Given the description of an element on the screen output the (x, y) to click on. 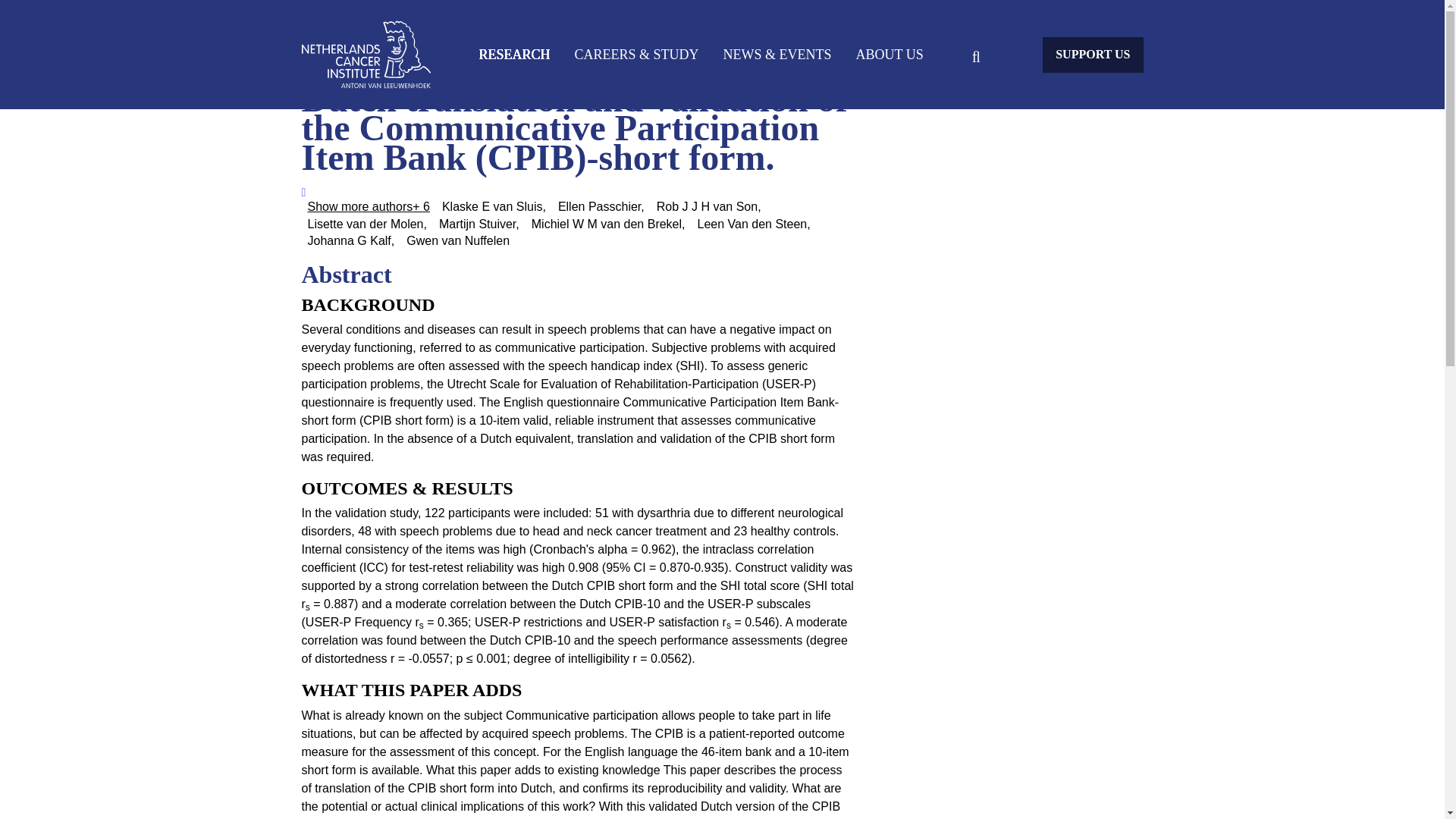
RESEARCH (514, 54)
terug (365, 54)
ABOUT US (890, 54)
